Given the description of an element on the screen output the (x, y) to click on. 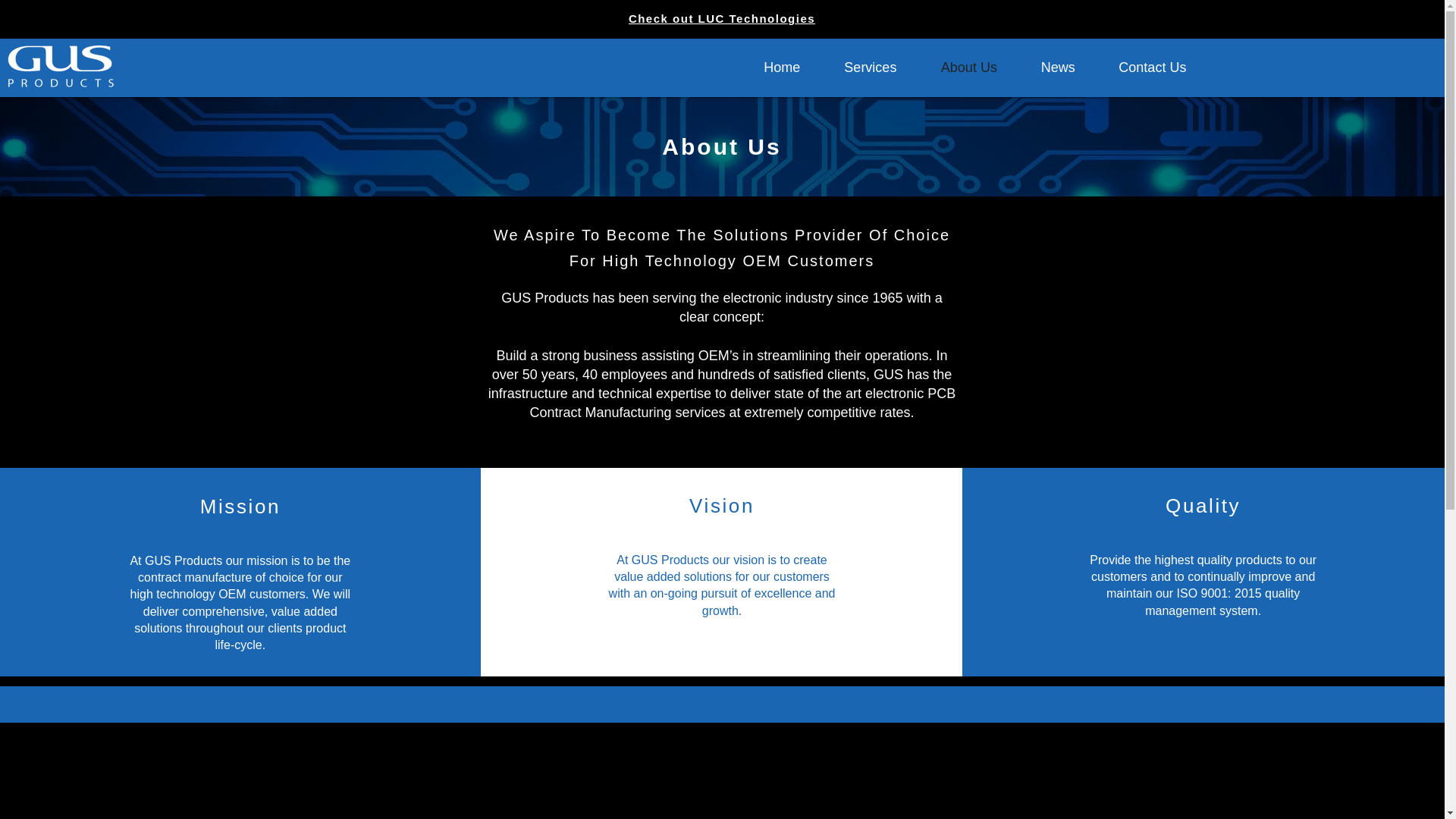
About Us (968, 67)
Home (781, 67)
Check out LUC Technologies (721, 18)
News (1057, 67)
Contact Us (1152, 67)
